Given the description of an element on the screen output the (x, y) to click on. 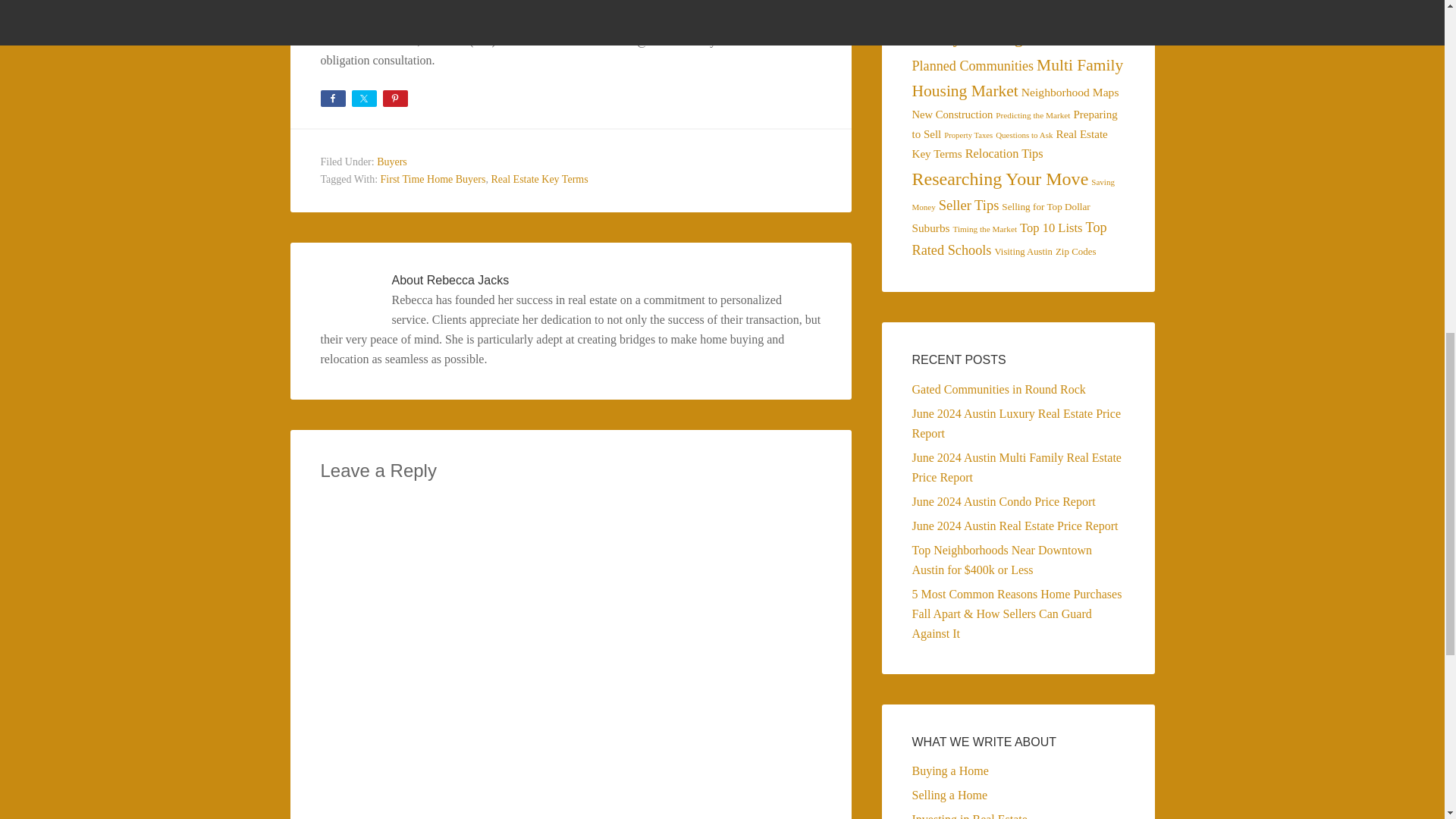
Real Estate Key Terms (539, 178)
Buyers (392, 161)
Buying a Home in Austin (584, 20)
First Time Home Buyers (433, 178)
